Given the description of an element on the screen output the (x, y) to click on. 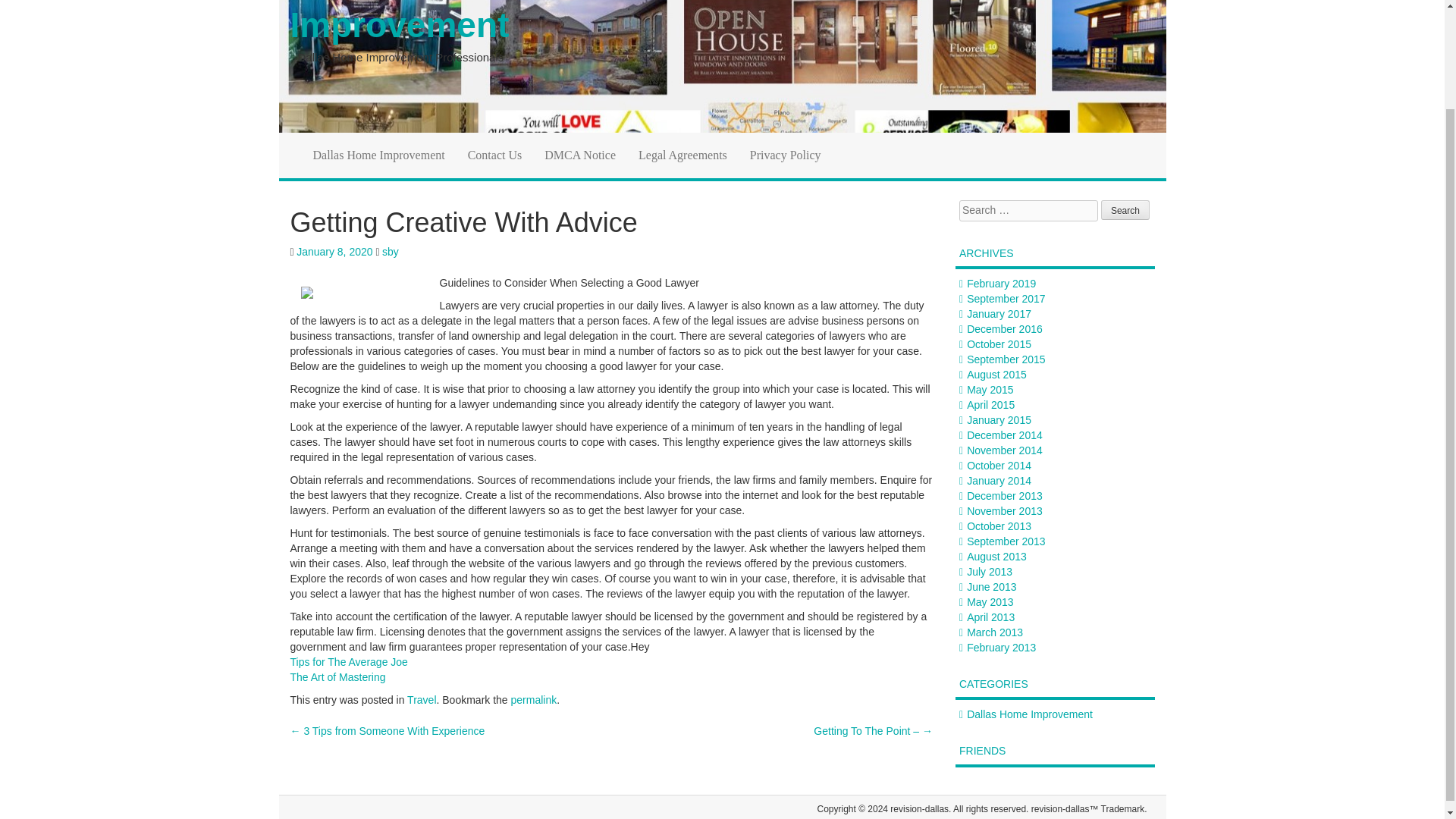
Legal Agreements (682, 155)
Travel (421, 699)
View all posts filed under Dallas Home Improvement (1029, 714)
Search (1125, 209)
Dallas Home Improvement (379, 155)
August 2013 (996, 556)
September 2015 (1005, 358)
March 2013 (994, 632)
Legal Agreements (682, 155)
Dallas Home Improvement (379, 155)
